Given the description of an element on the screen output the (x, y) to click on. 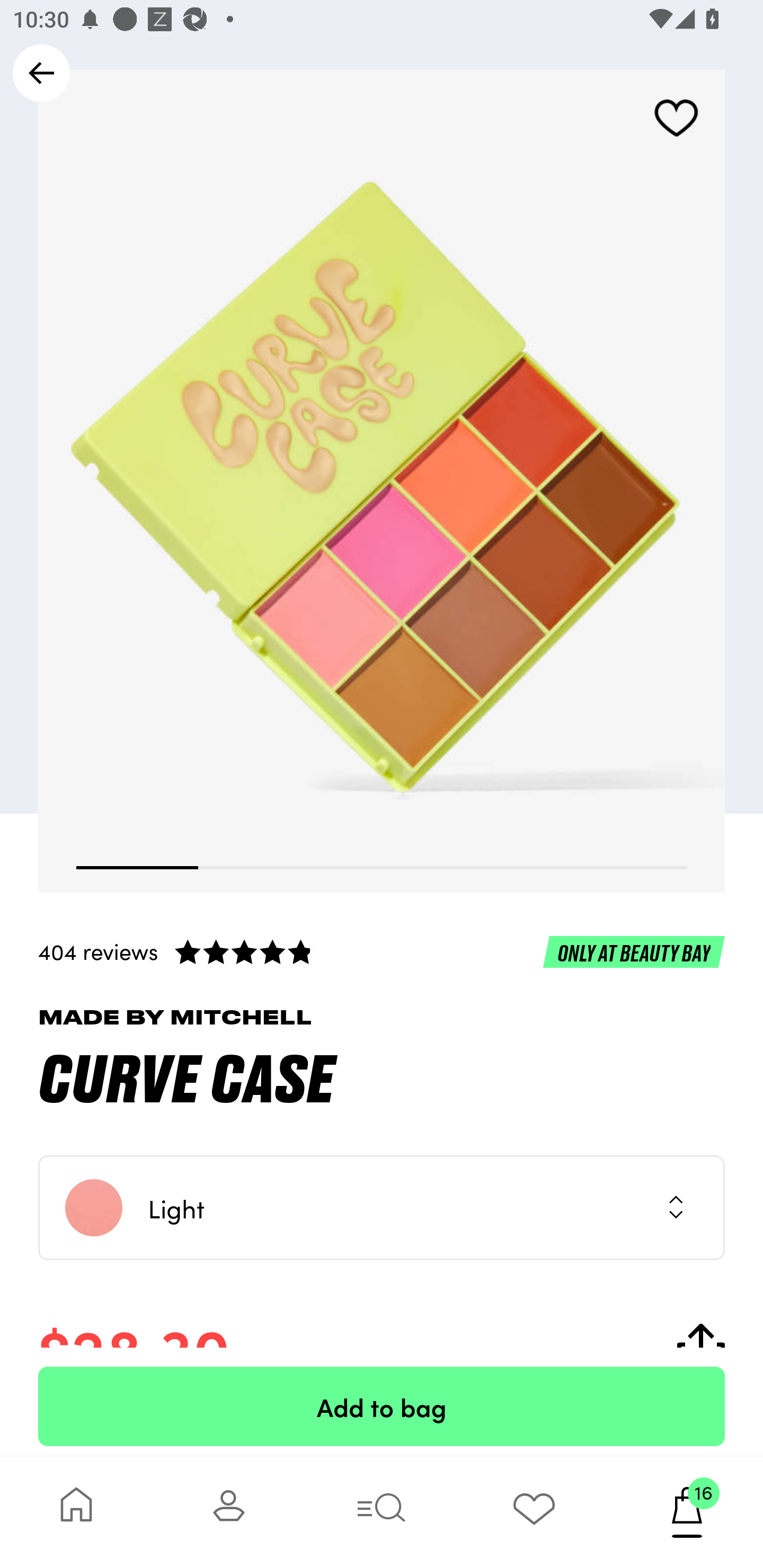
404 reviews (381, 950)
Light  (381, 1207)
Add to bag (381, 1406)
16 (686, 1512)
